Given the description of an element on the screen output the (x, y) to click on. 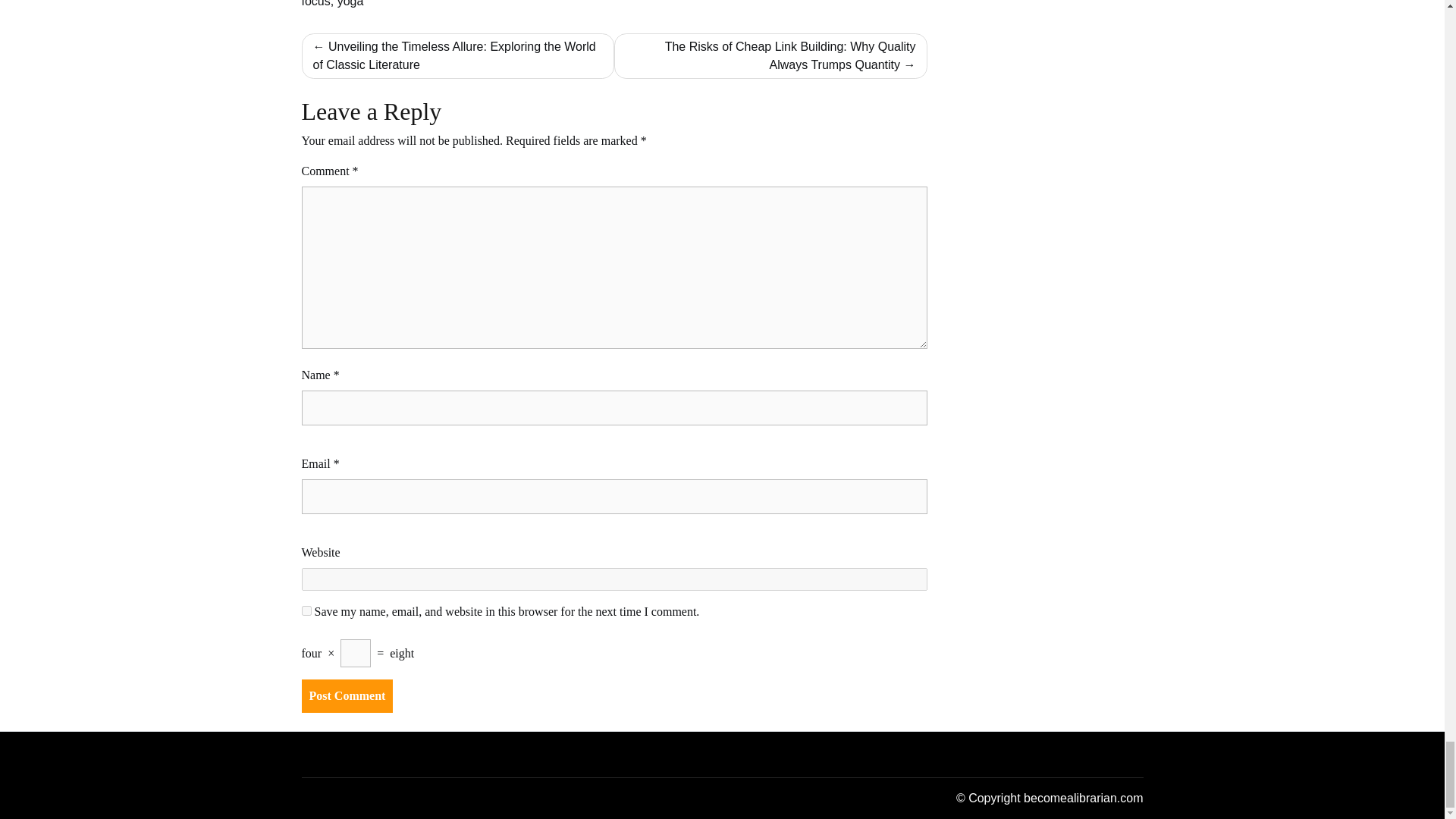
Post Comment (347, 695)
sharpen focus (612, 3)
Post Comment (347, 695)
yes (306, 610)
yoga (350, 3)
